Given the description of an element on the screen output the (x, y) to click on. 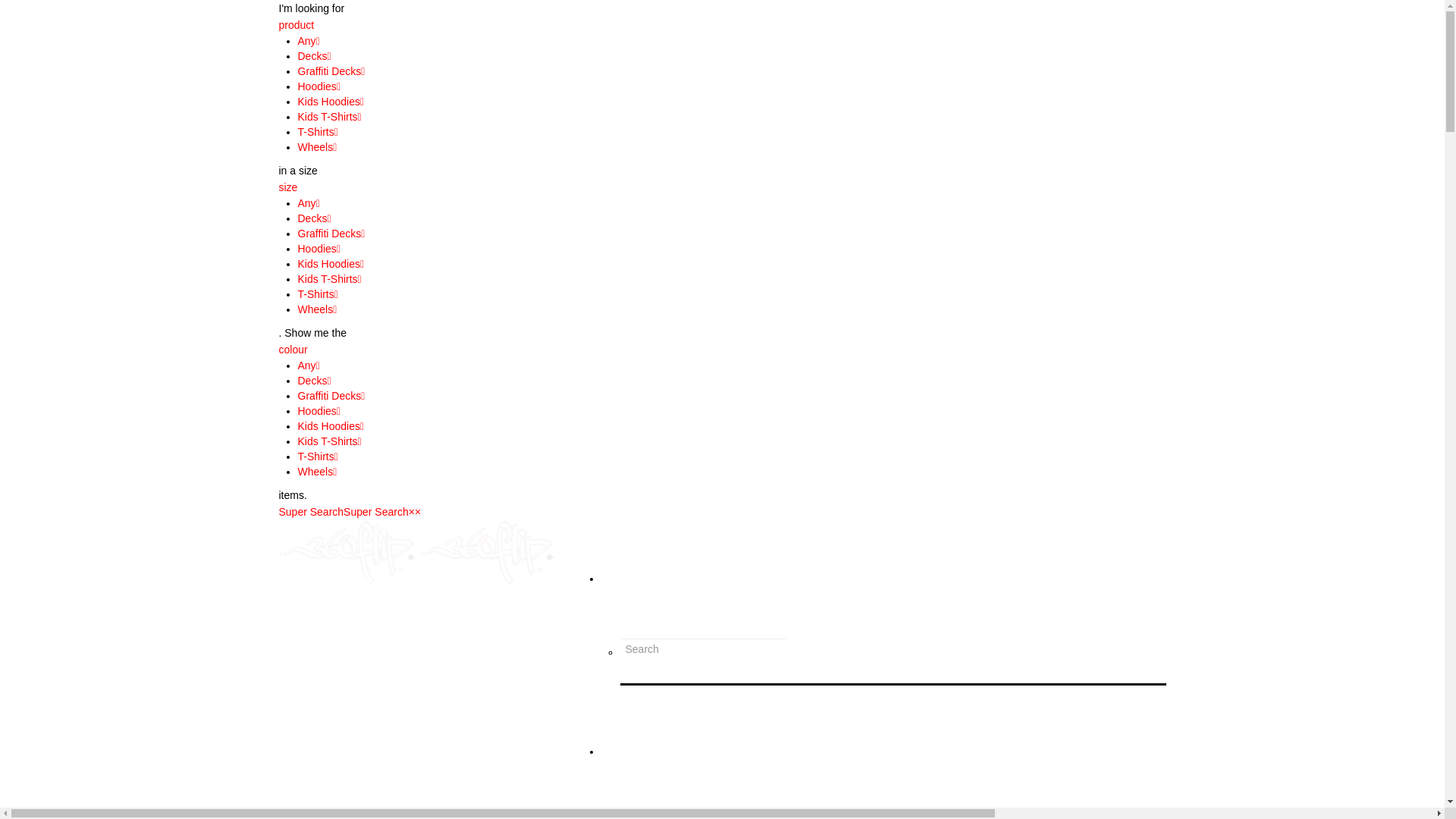
Kids Hoodies Element type: text (328, 426)
T-Shirts Element type: text (315, 131)
Home Element type: text (614, 751)
Kids Hoodies Element type: text (328, 263)
Decks Element type: text (311, 56)
Graffiti Decks Element type: text (328, 395)
Decks Element type: text (311, 218)
Kids T-Shirts Element type: text (327, 116)
Super SearchSuper Search Element type: text (343, 511)
T-Shirts Element type: text (315, 294)
Kids Hoodies Element type: text (328, 101)
Decks Element type: text (311, 380)
Any Element type: text (306, 203)
Hoodies Element type: text (316, 410)
Graffiti Decks Element type: text (328, 233)
Hoodies Element type: text (316, 248)
Wheels Element type: text (314, 147)
Hoodies Element type: text (316, 86)
Any Element type: text (306, 365)
Any Element type: text (306, 40)
Kids T-Shirts Element type: text (327, 441)
Wheels Element type: text (314, 309)
Kids T-Shirts Element type: text (327, 279)
T-Shirts Element type: text (315, 456)
Graffiti Decks Element type: text (328, 71)
Wheels Element type: text (314, 471)
